Given the description of an element on the screen output the (x, y) to click on. 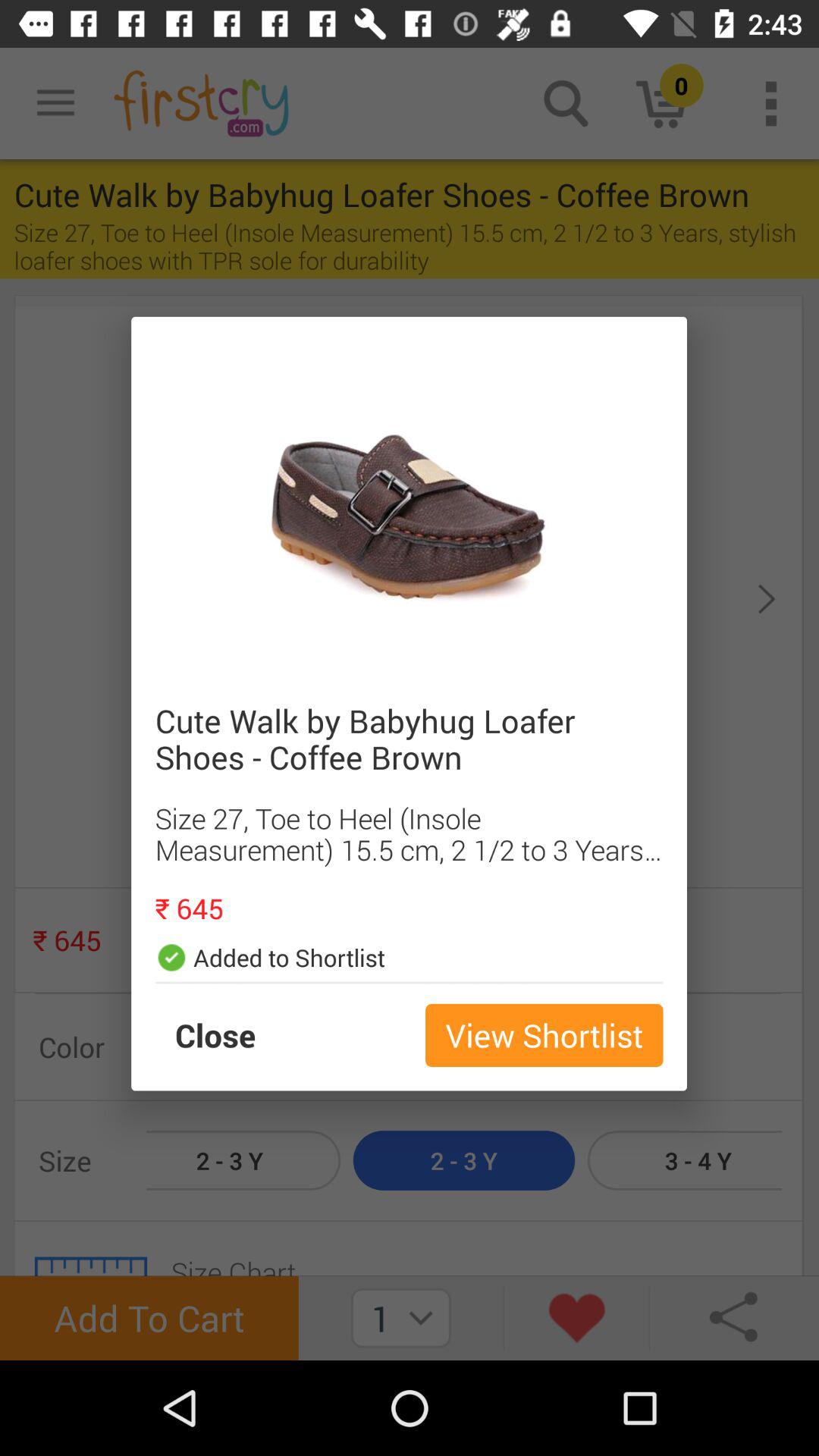
turn off close at the bottom left corner (231, 1034)
